Given the description of an element on the screen output the (x, y) to click on. 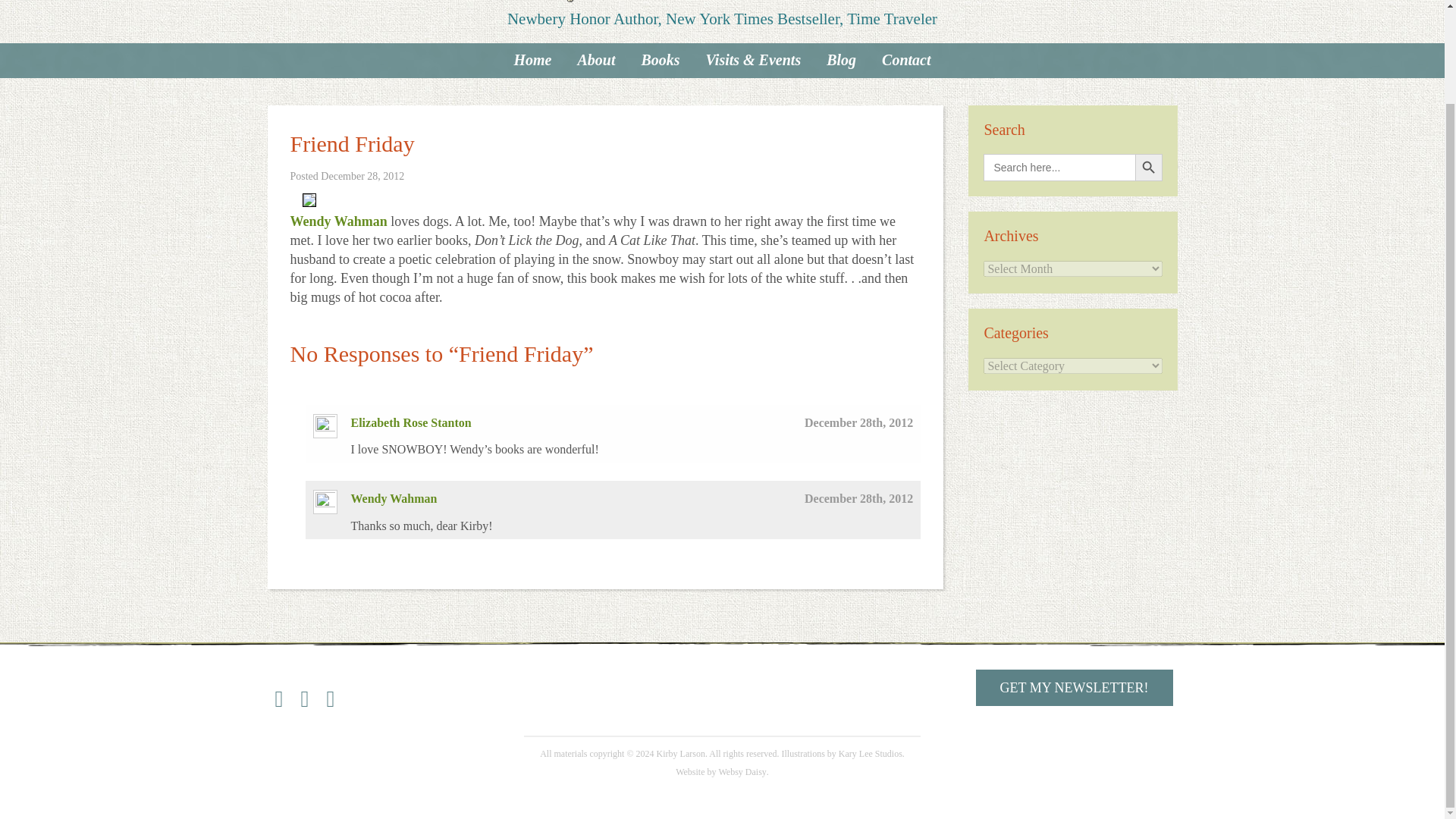
Books (659, 60)
Wendy Wahman (393, 498)
December 28th, 2012 (858, 498)
Wendy Wahman (338, 221)
Search Button (1147, 166)
Kary Lee Studios (870, 753)
Websy Daisy (743, 771)
About (596, 60)
Contact (906, 60)
Blog (841, 60)
